Given the description of an element on the screen output the (x, y) to click on. 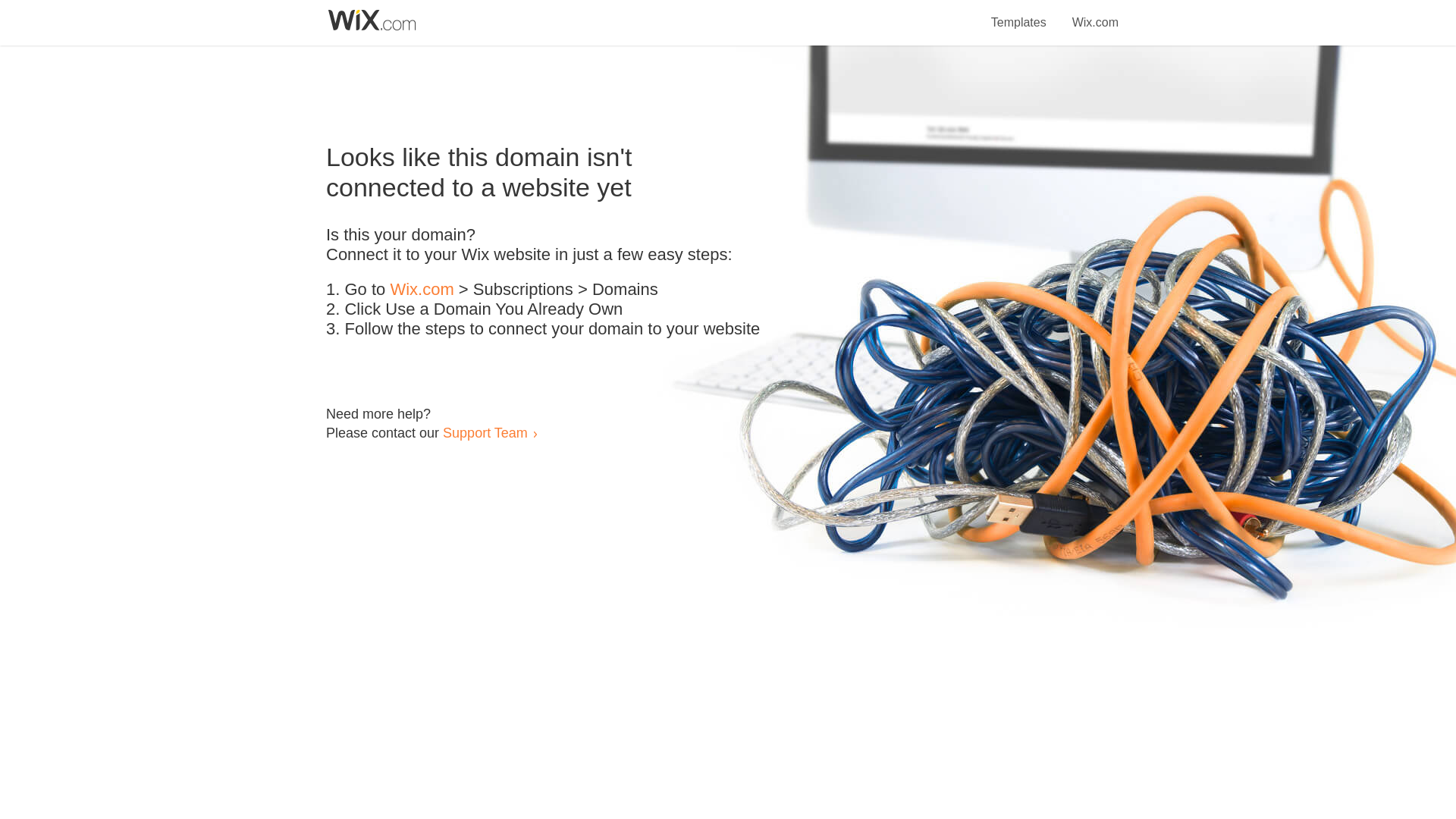
Templates (1018, 14)
Wix.com (421, 289)
Support Team (484, 432)
Wix.com (1095, 14)
